Given the description of an element on the screen output the (x, y) to click on. 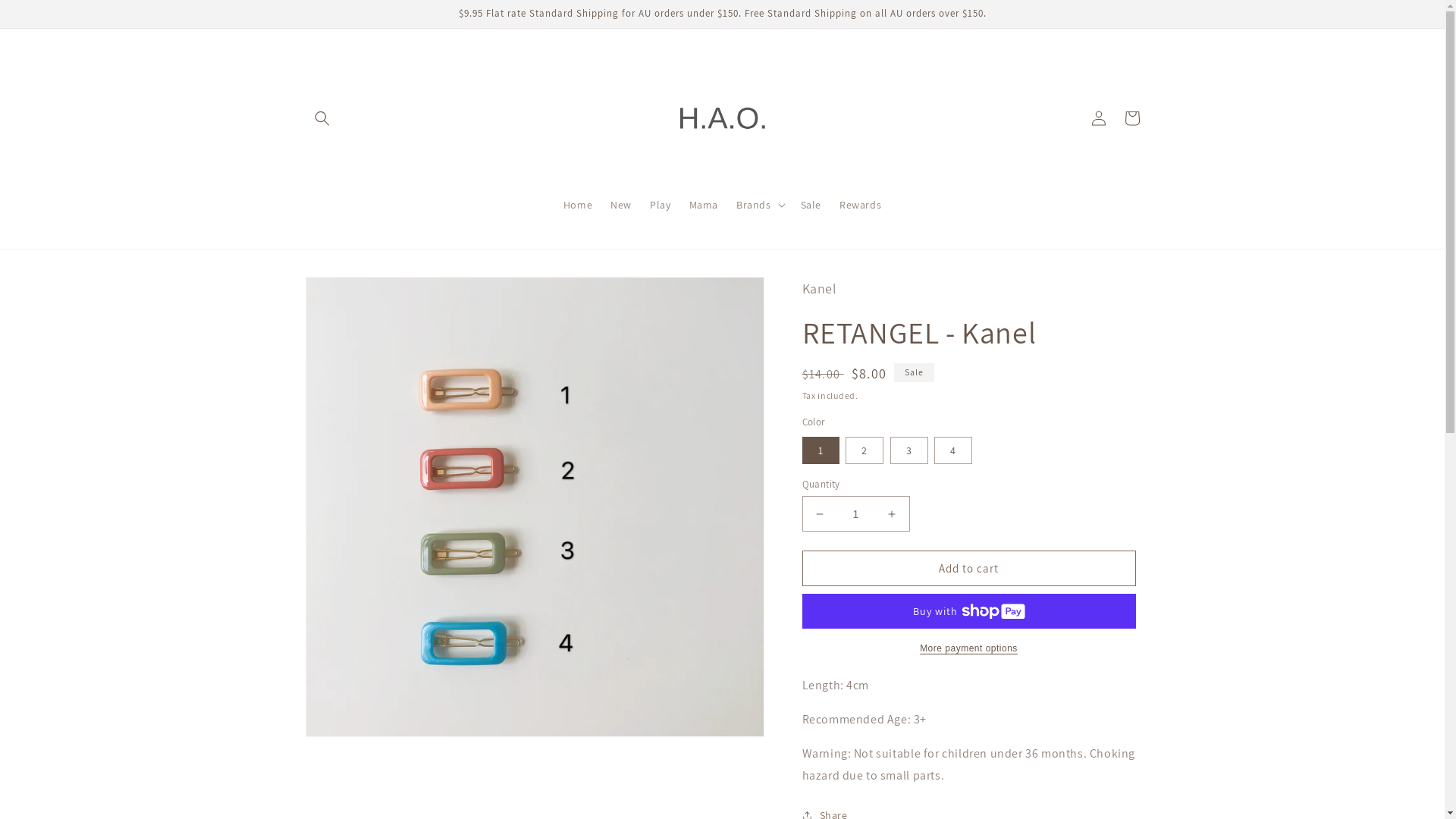
Add to cart Element type: text (968, 568)
Mama Element type: text (702, 204)
Log in Element type: text (1097, 117)
Decrease quantity for RETANGEL - Kanel Element type: text (819, 513)
Rewards Element type: text (860, 204)
Cart Element type: text (1131, 117)
New Element type: text (620, 204)
More payment options Element type: text (968, 647)
Play Element type: text (659, 204)
Skip to product information Element type: text (350, 293)
Sale Element type: text (810, 204)
Home Element type: text (577, 204)
Increase quantity for RETANGEL - Kanel Element type: text (892, 513)
